Given the description of an element on the screen output the (x, y) to click on. 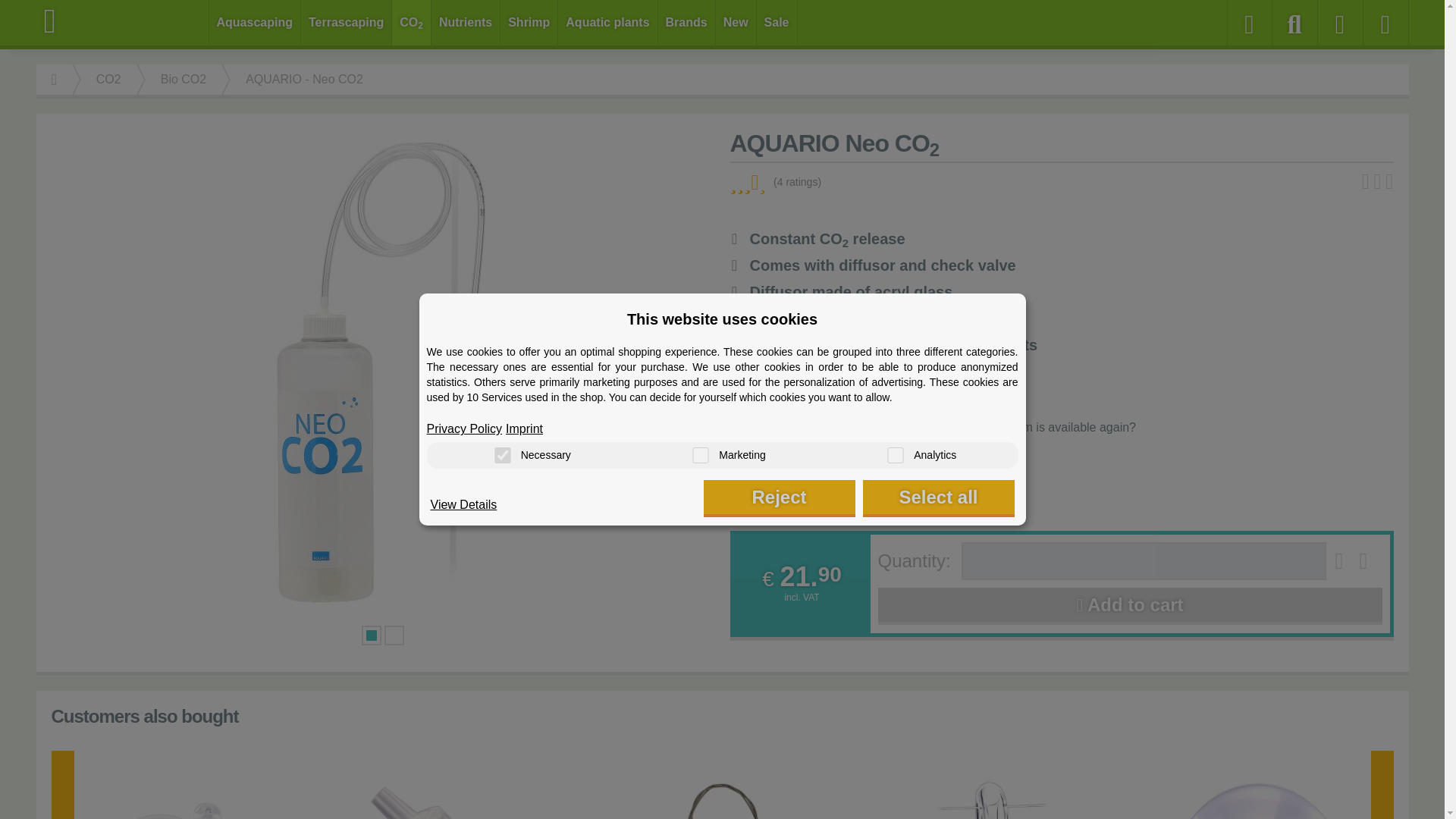
on (895, 455)
Aquasabi (123, 21)
on (501, 455)
Aquascaping (254, 22)
on (699, 455)
